Given the description of an element on the screen output the (x, y) to click on. 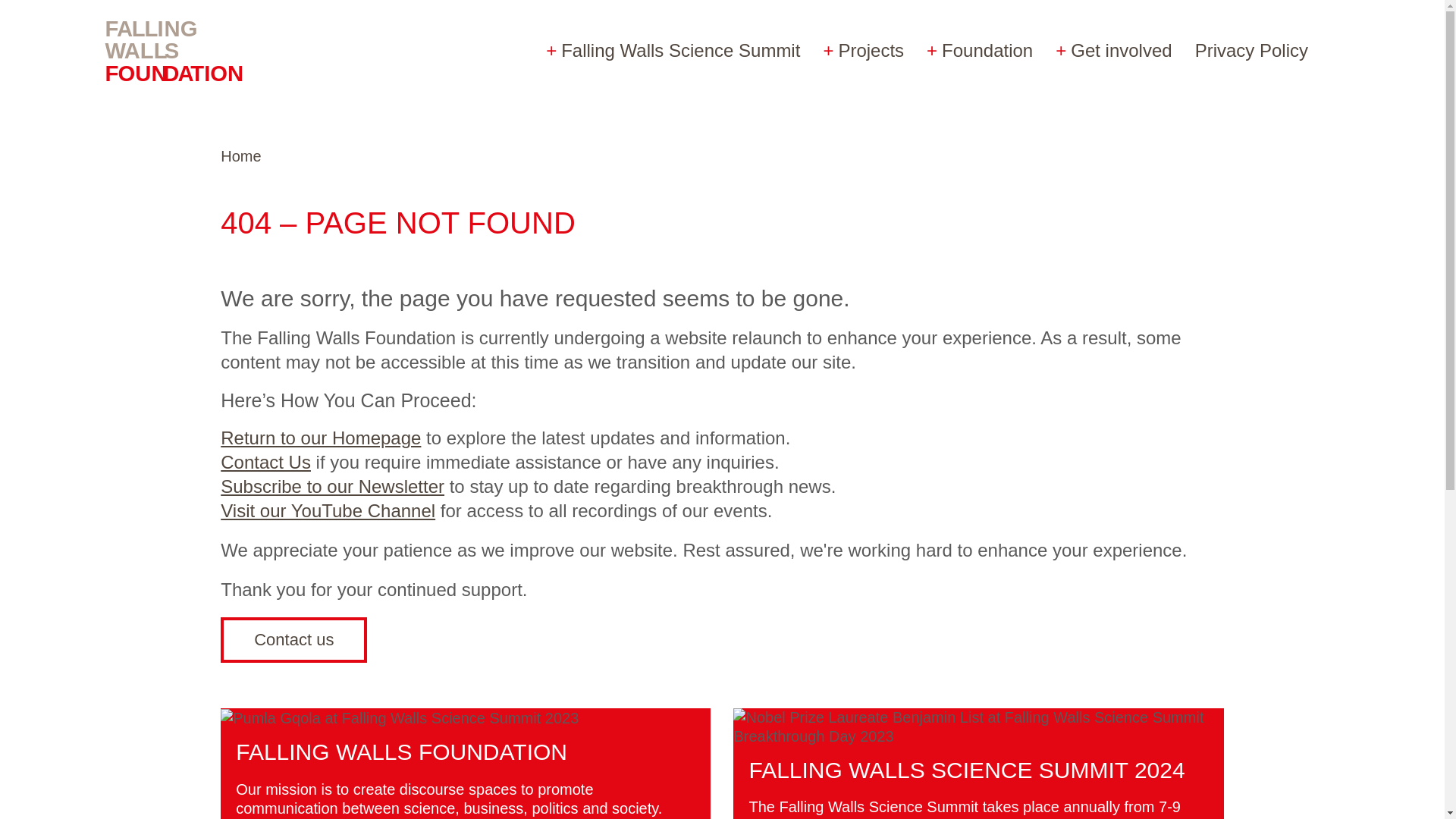
Home (188, 50)
Expand menu Projects (862, 50)
Home (240, 156)
Subscribe to our Newsletter (332, 485)
Skip to main content (83, 15)
Expand menu Get involved (1112, 50)
FALLING WALLS SCIENCE SUMMIT 2024 (966, 769)
Visit our YouTube Channel (328, 510)
Contact us (293, 639)
Return to our Homepage (320, 437)
